Given the description of an element on the screen output the (x, y) to click on. 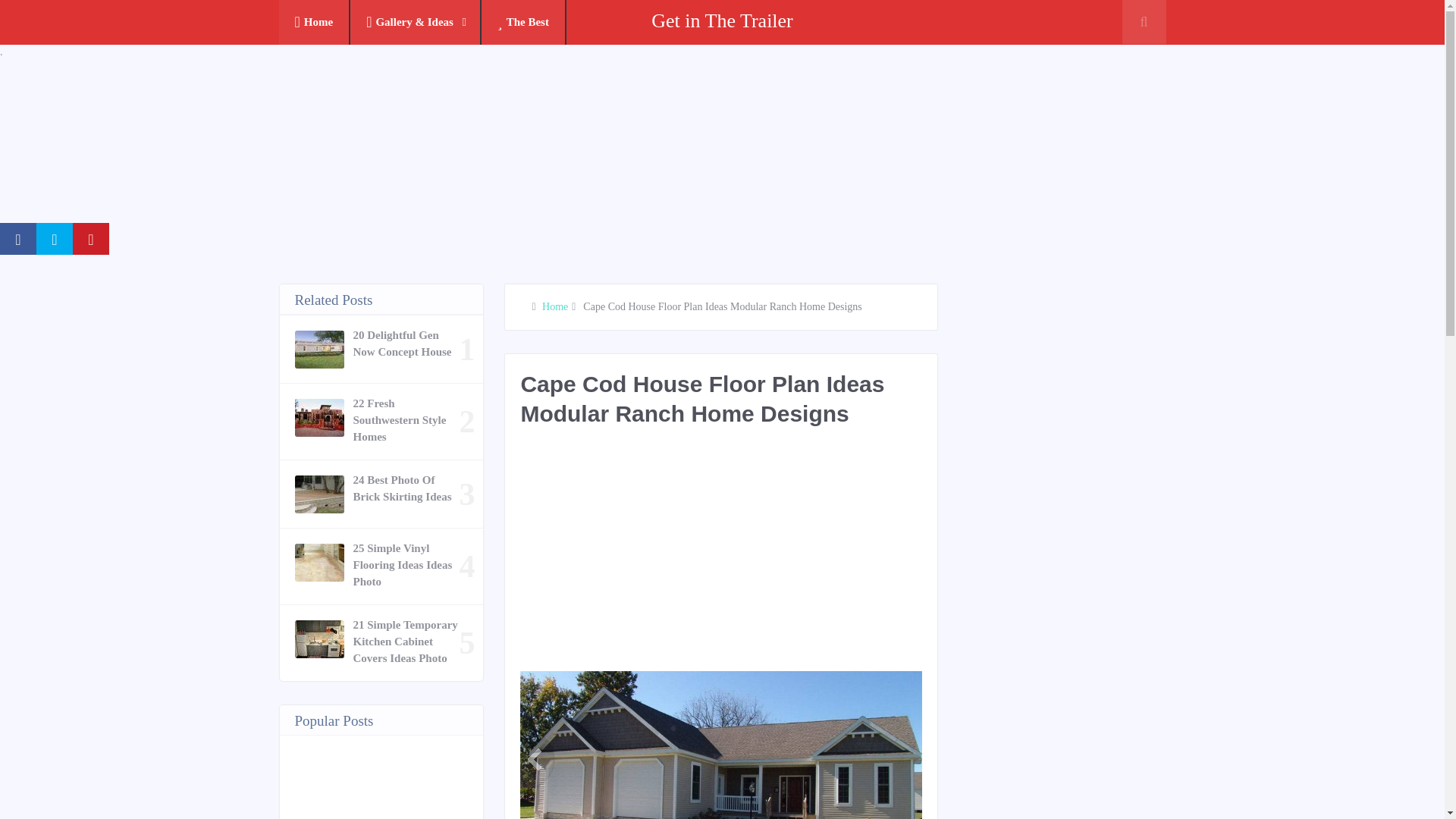
Advertisement (795, 557)
25 Simple Vinyl Flooring Ideas Ideas Photo (406, 564)
20 Delightful Gen Now Concept House (406, 343)
Get in The Trailer (721, 20)
Home (554, 306)
22 Fresh Southwestern Style Homes (406, 419)
The Best (523, 22)
Home (314, 22)
24 Best Photo Of Brick Skirting Ideas (406, 488)
